Given the description of an element on the screen output the (x, y) to click on. 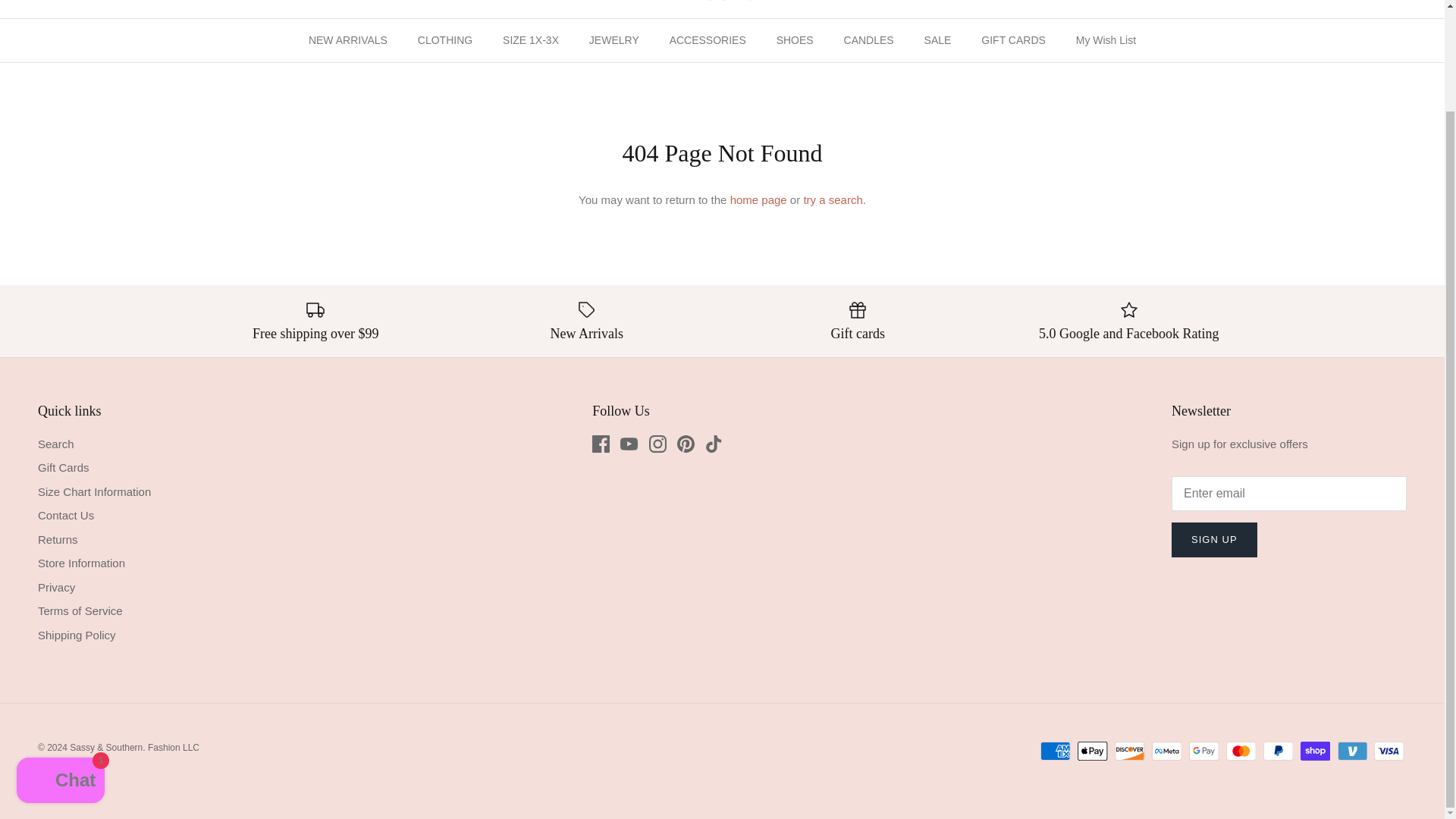
Pinterest (685, 443)
NEW ARRIVALS (348, 40)
Apple Pay (1092, 751)
JEWELRY (613, 40)
Facebook (601, 443)
Discover (1129, 751)
ACCESSORIES (708, 40)
Label (586, 310)
Instagram (657, 443)
CLOTHING (445, 40)
Meta Pay (1166, 751)
SIZE 1X-3X (530, 40)
Shopify online store chat (60, 664)
Youtube (628, 443)
American Express (1055, 751)
